Given the description of an element on the screen output the (x, y) to click on. 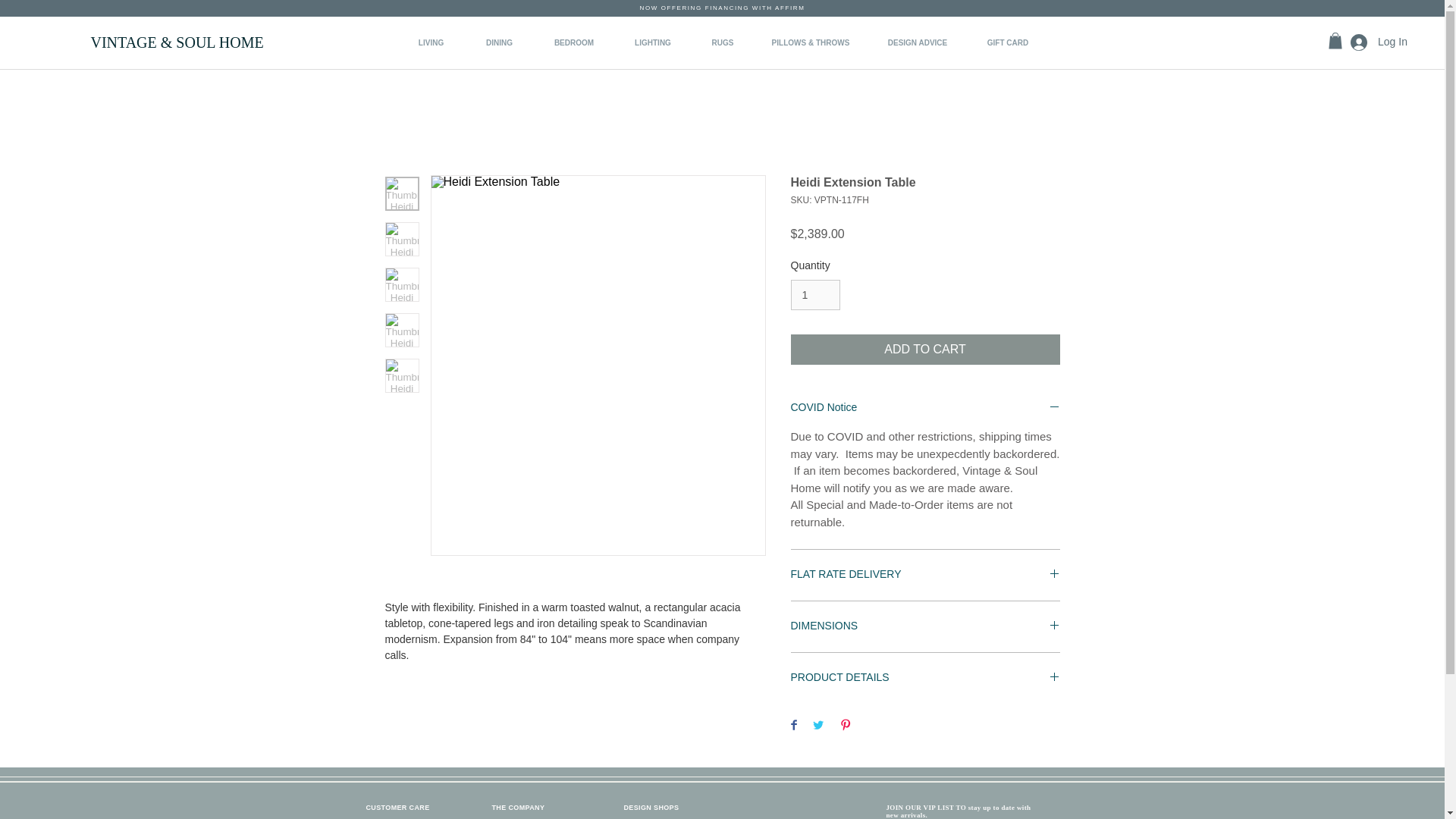
Log In (1376, 42)
LIGHTING (653, 42)
ADD TO CART (924, 349)
DESIGN ADVICE (916, 42)
COVID Notice (924, 408)
DINING (499, 42)
PRODUCT DETAILS (924, 677)
1 (815, 295)
GIFT CARD (1008, 42)
DIMENSIONS (924, 626)
